Given the description of an element on the screen output the (x, y) to click on. 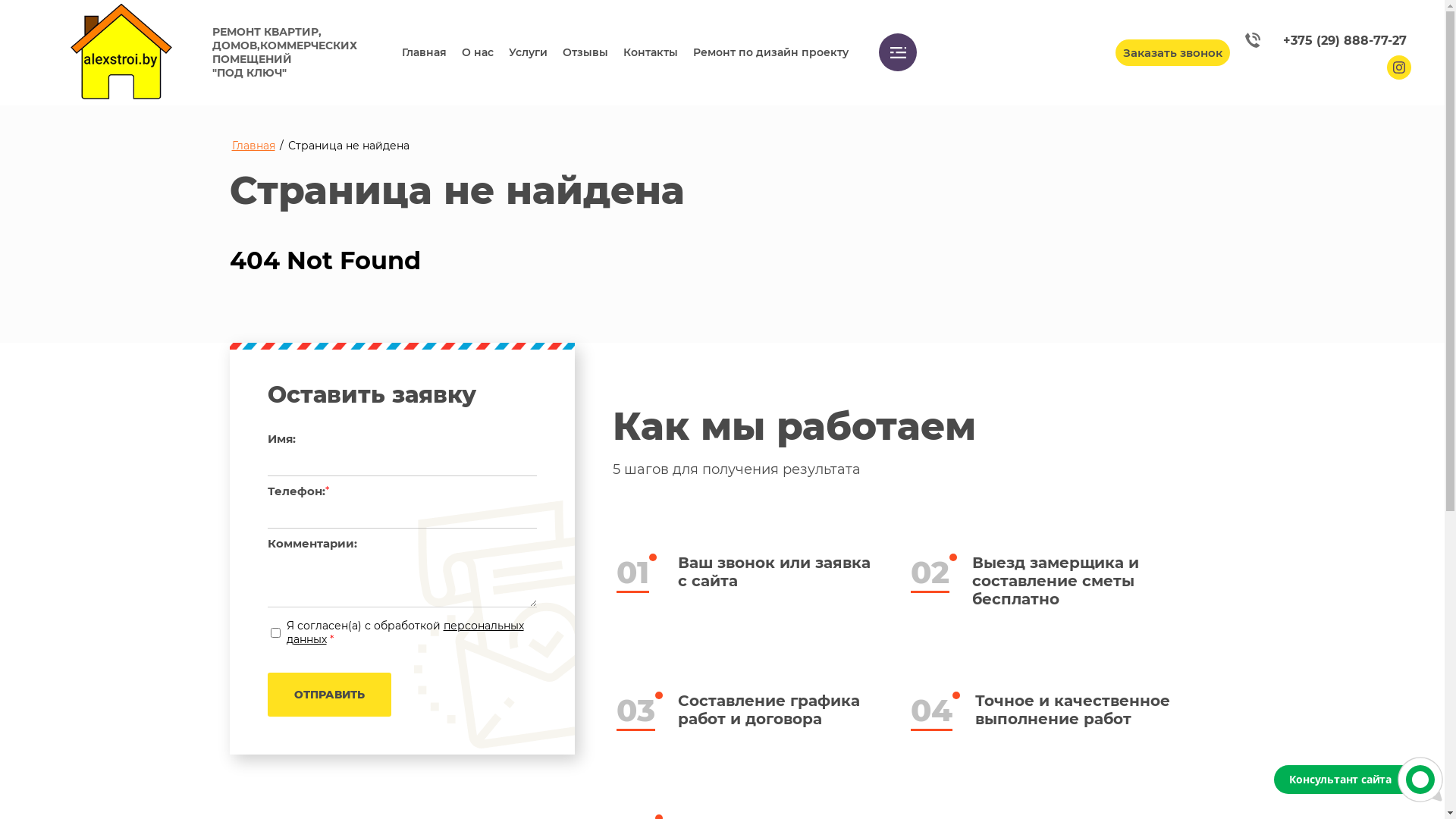
+375 (29) 888-77-27 Element type: text (1325, 39)
... Element type: text (897, 52)
